Given the description of an element on the screen output the (x, y) to click on. 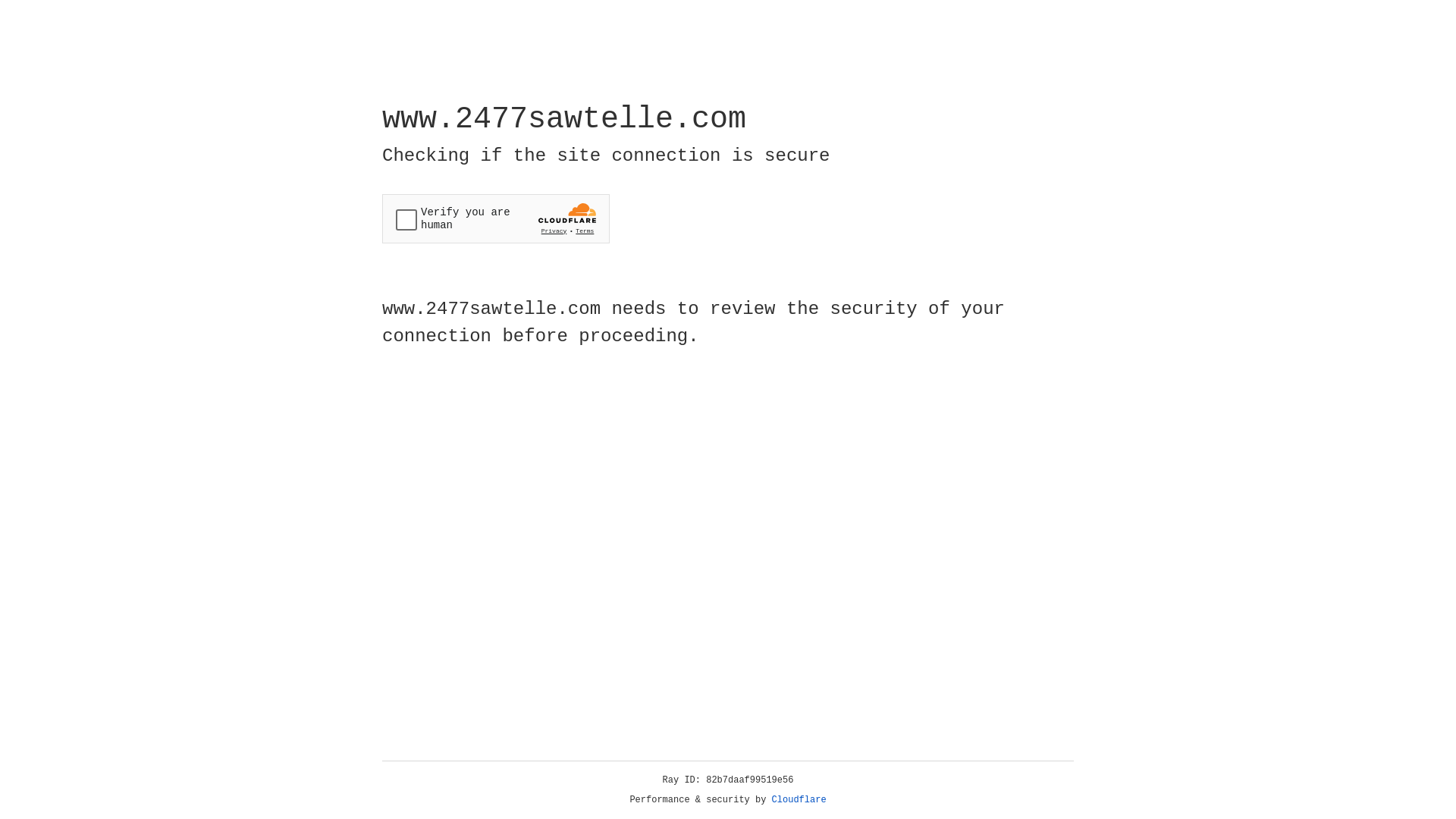
Widget containing a Cloudflare security challenge Element type: hover (495, 218)
Cloudflare Element type: text (798, 799)
